Given the description of an element on the screen output the (x, y) to click on. 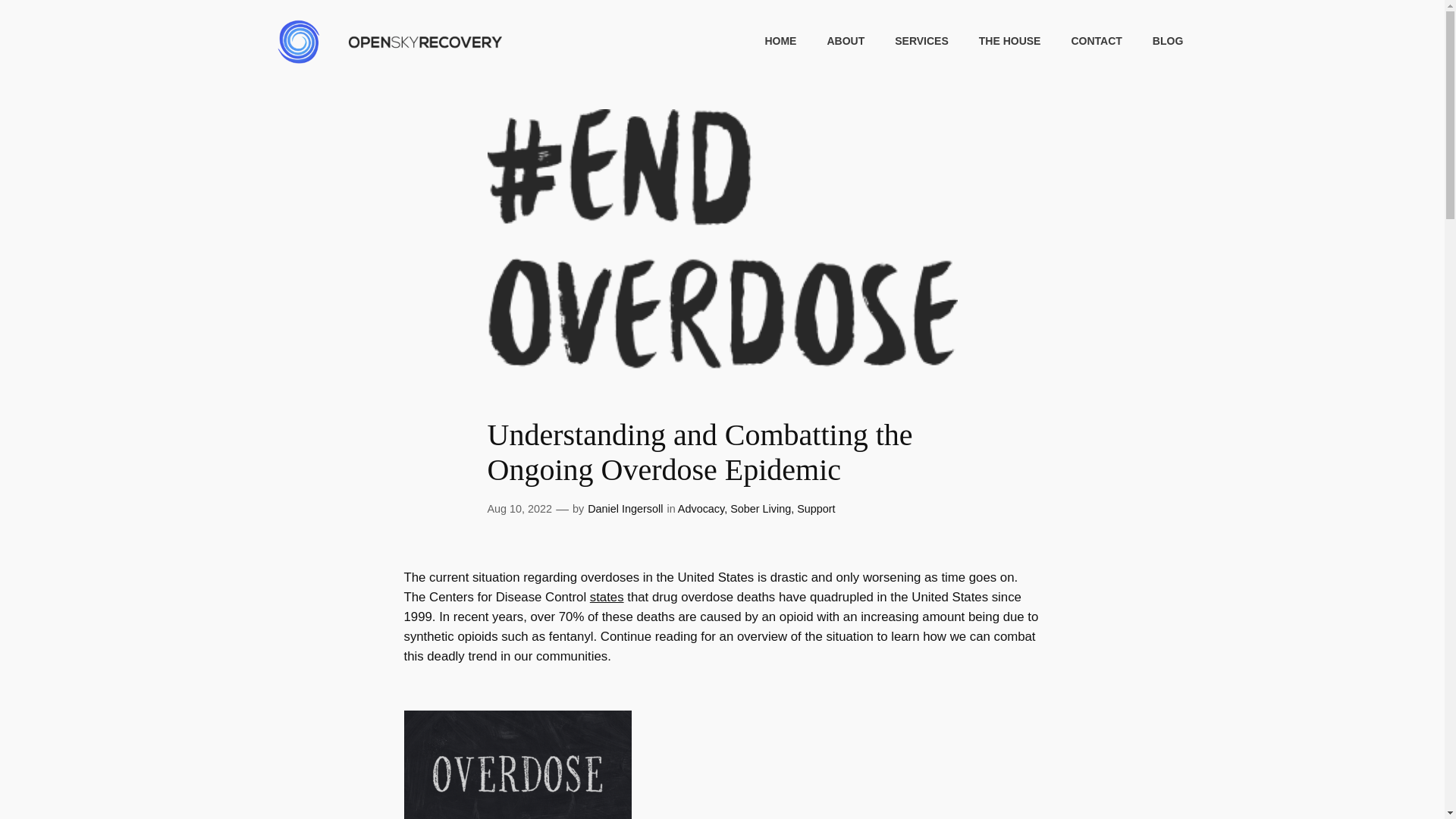
Aug 10, 2022 (518, 508)
ABOUT (845, 40)
Advocacy (700, 508)
BLOG (1167, 40)
HOME (780, 40)
Support (815, 508)
THE HOUSE (1009, 40)
Sober Living (760, 508)
SERVICES (922, 40)
CONTACT (1095, 40)
states (606, 596)
Daniel Ingersoll (625, 508)
